Given the description of an element on the screen output the (x, y) to click on. 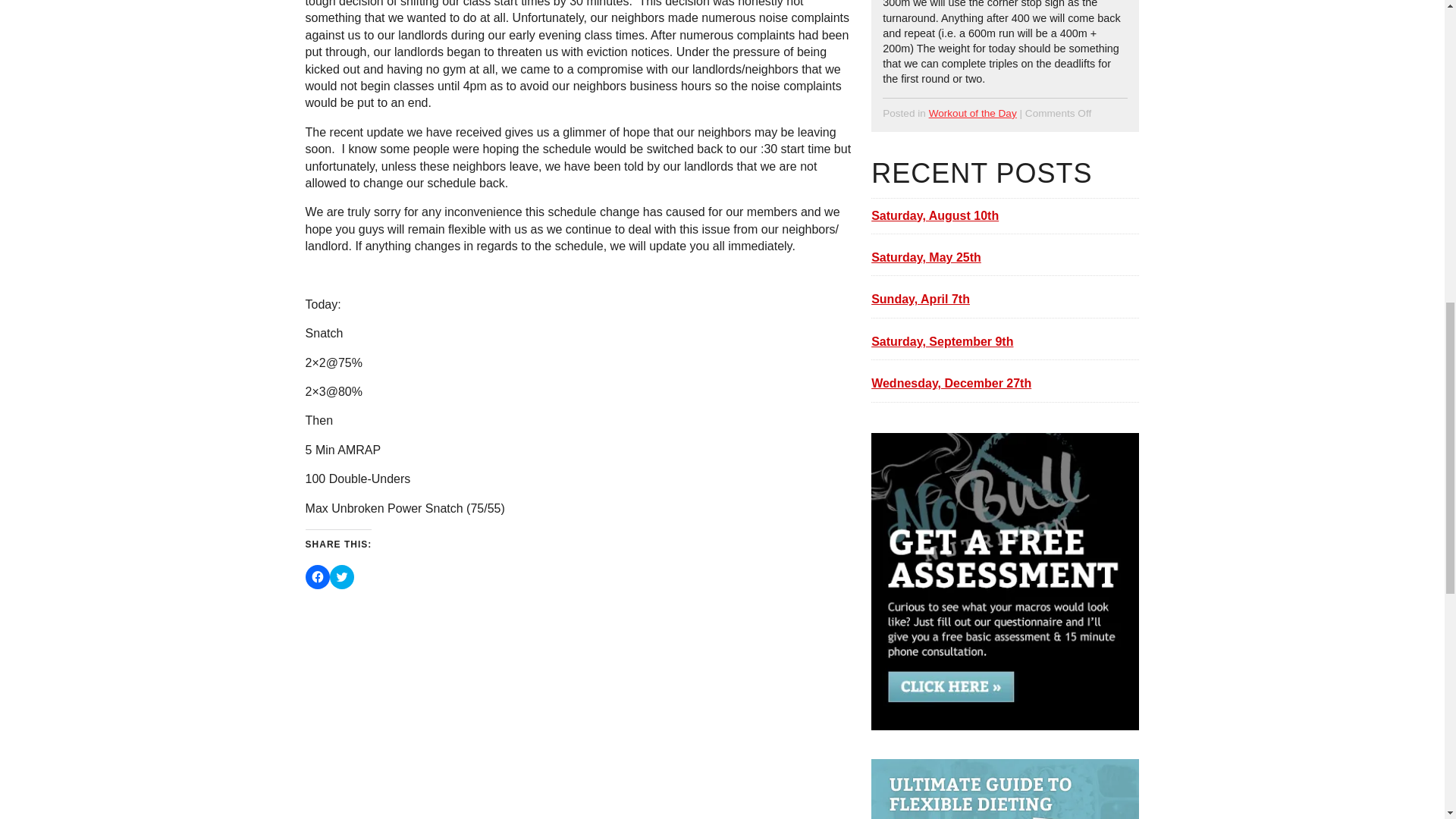
Permanent link to Sunday, April 7th (1004, 298)
Permanent link to Saturday, August 10th (1004, 216)
Permanent link to Wednesday, December 27th (1004, 383)
Permanent link to Saturday, May 25th (1004, 257)
Click to share on Twitter (341, 576)
Click to share on Facebook (317, 576)
Permanent link to Saturday, September 9th (1004, 341)
Workout of the Day (972, 112)
